Given the description of an element on the screen output the (x, y) to click on. 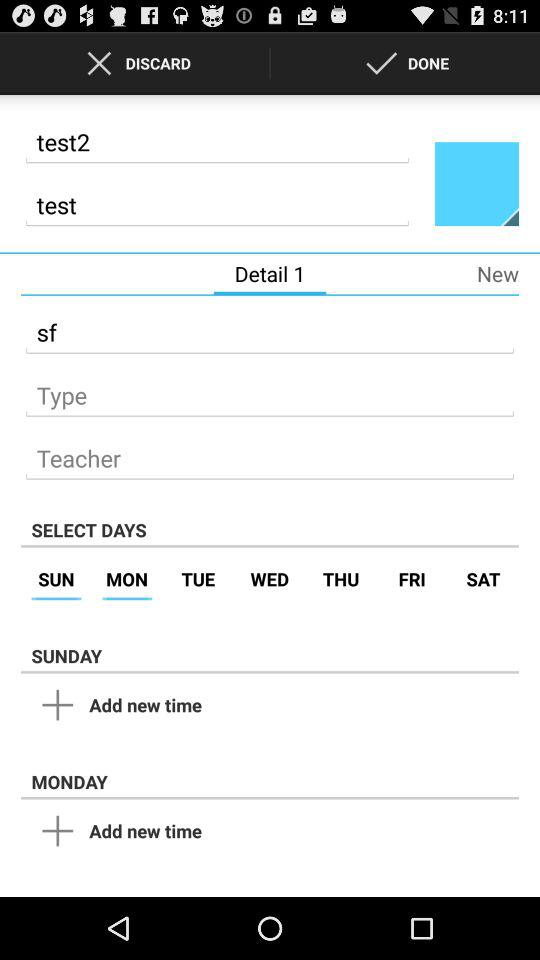
type name of teacher (270, 452)
